Given the description of an element on the screen output the (x, y) to click on. 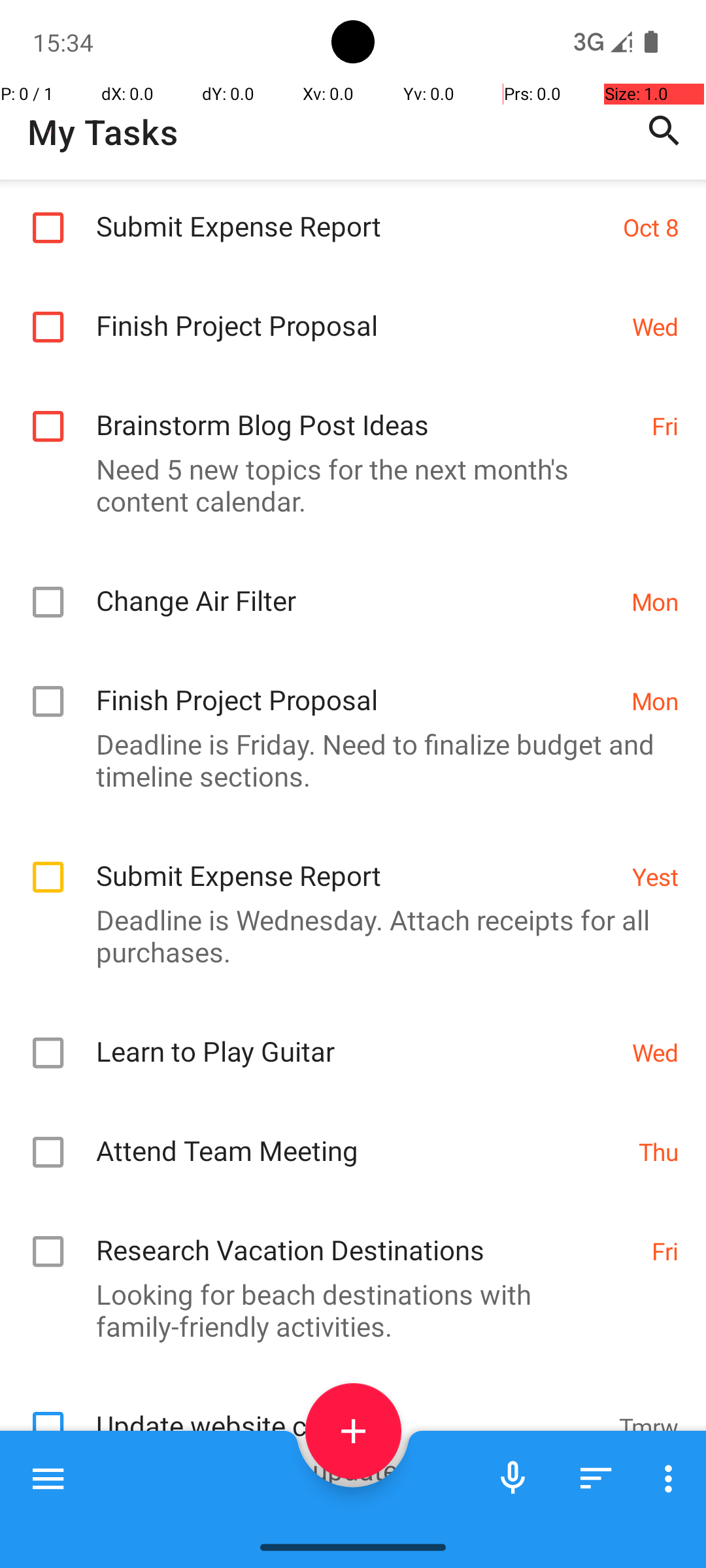
My Tasks Element type: android.widget.TextView (102, 131)
Sort Element type: android.widget.Button (595, 1478)
Submit Expense Report Element type: android.widget.TextView (352, 211)
Oct 8 Element type: android.widget.TextView (650, 226)
Finish Project Proposal Element type: android.widget.TextView (357, 310)
Wed Element type: android.widget.TextView (655, 325)
Brainstorm Blog Post Ideas Element type: android.widget.TextView (367, 410)
Need 5 new topics for the next month's content calendar. Element type: android.widget.TextView (346, 484)
Fri Element type: android.widget.TextView (665, 425)
Change Air Filter Element type: android.widget.TextView (356, 586)
Mon Element type: android.widget.TextView (654, 600)
Deadline is Friday. Need to finalize budget and timeline sections. Element type: android.widget.TextView (346, 759)
Deadline is Wednesday. Attach receipts for all purchases. Element type: android.widget.TextView (346, 935)
Yest Element type: android.widget.TextView (655, 876)
Learn to Play Guitar Element type: android.widget.TextView (357, 1036)
Attend Team Meeting Element type: android.widget.TextView (360, 1136)
Thu Element type: android.widget.TextView (658, 1151)
Research Vacation Destinations Element type: android.widget.TextView (367, 1235)
Looking for beach destinations with family-friendly activities. Element type: android.widget.TextView (346, 1309)
Update website content Element type: android.widget.TextView (350, 1411)
Monitor email for updates on this. Element type: android.widget.TextView (346, 1469)
Tmrw Element type: android.widget.TextView (648, 1426)
